Given the description of an element on the screen output the (x, y) to click on. 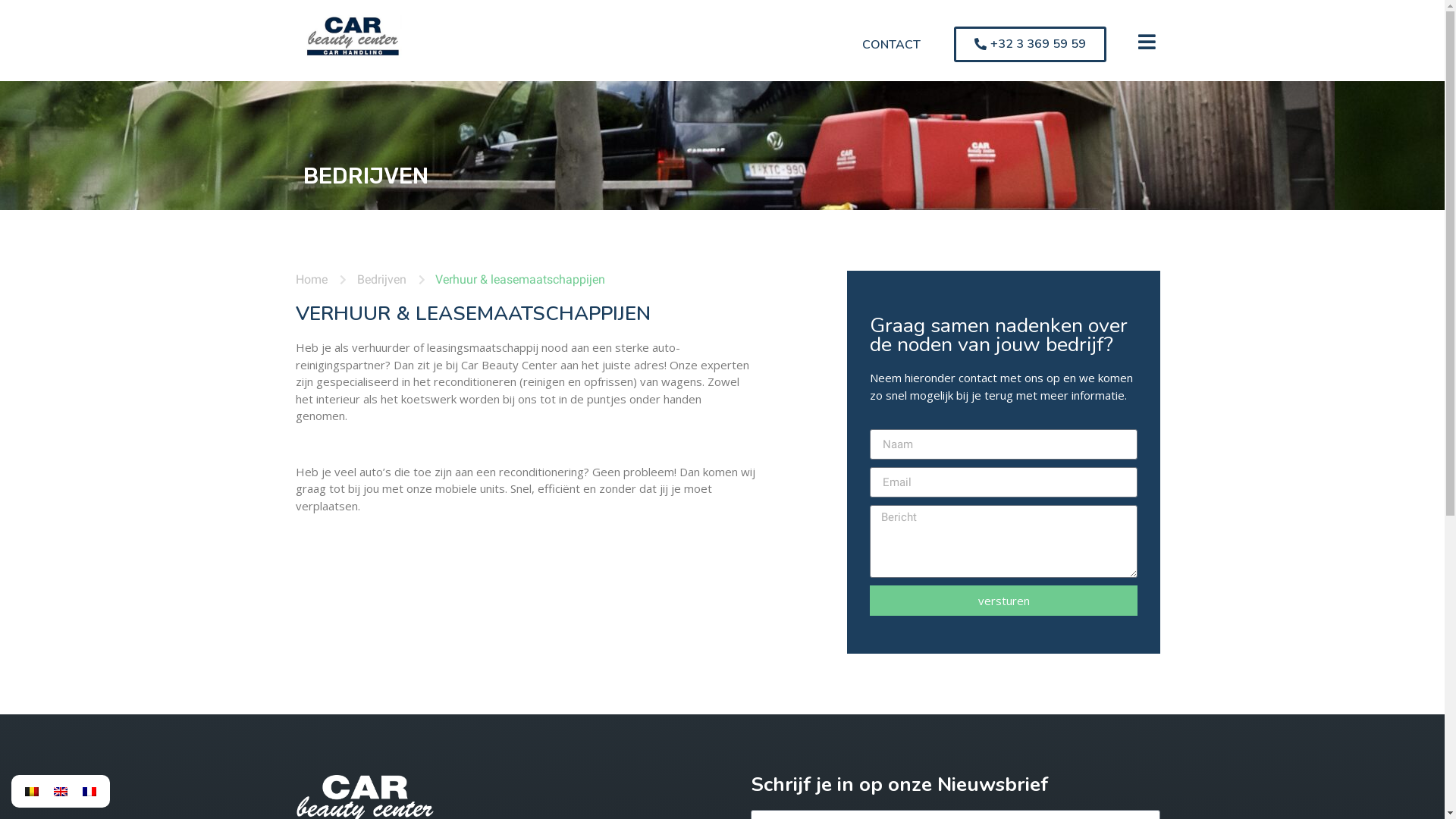
versturen Element type: text (1003, 600)
+32 3 369 59 59 Element type: text (1029, 44)
CONTACT Element type: text (891, 43)
Bedrijven Element type: text (372, 279)
Home Element type: text (311, 279)
